Given the description of an element on the screen output the (x, y) to click on. 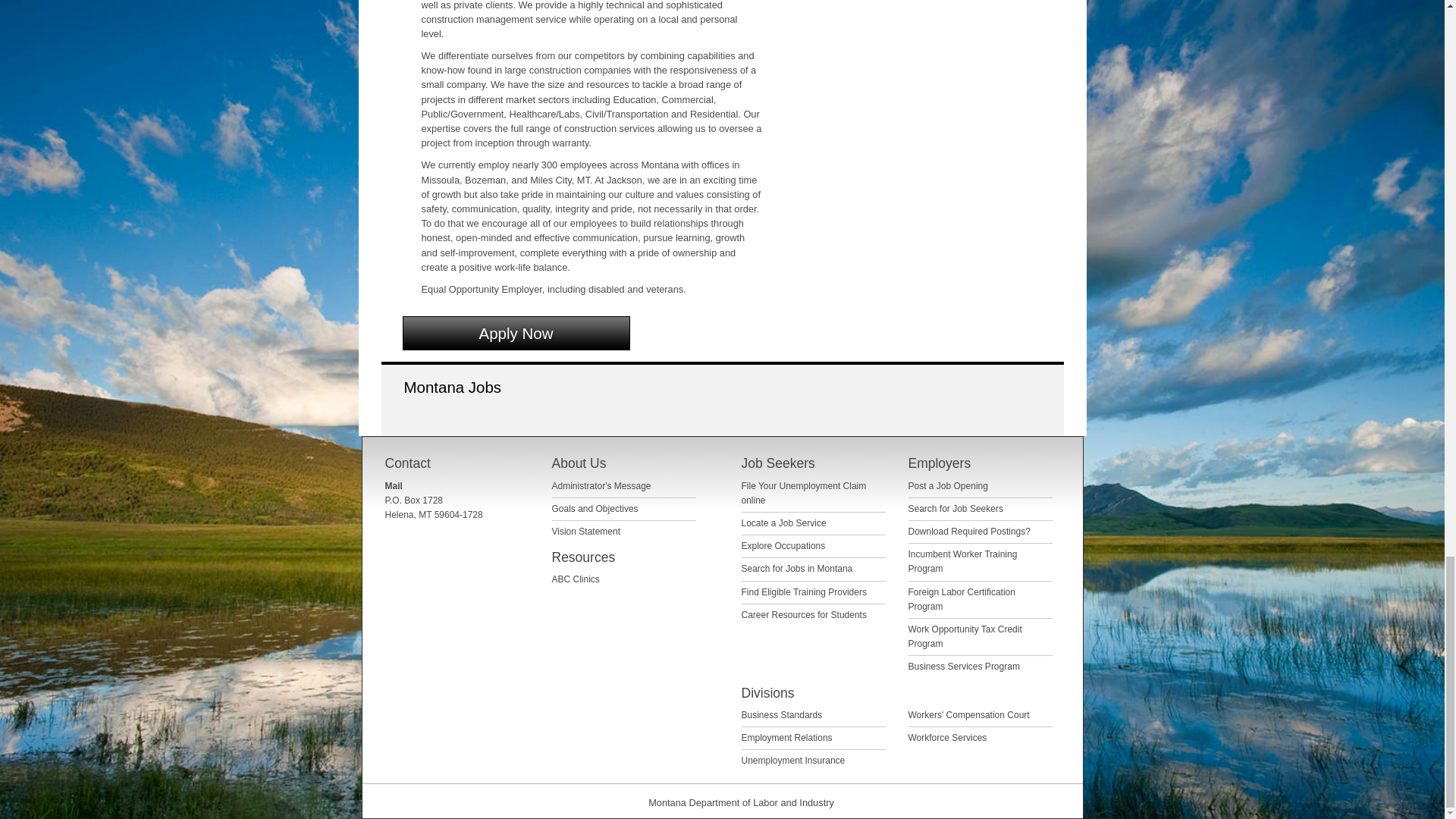
Incumbent Worker Training Program (962, 561)
Business Standards (781, 715)
Download Required Postings? (969, 531)
Administrator's Message (600, 485)
Search for Job Seekers (955, 508)
Vision Statement (586, 531)
Goals and Objectives (595, 508)
Locate a Job Service (784, 522)
Explore Occupations (783, 545)
Work Opportunity Tax Credit Program (965, 636)
ABC Clinics (575, 579)
Apply Now (514, 333)
Find Eligible Training Providers (803, 592)
Employment Relations (786, 737)
Foreign Labor Certification Program (961, 599)
